Given the description of an element on the screen output the (x, y) to click on. 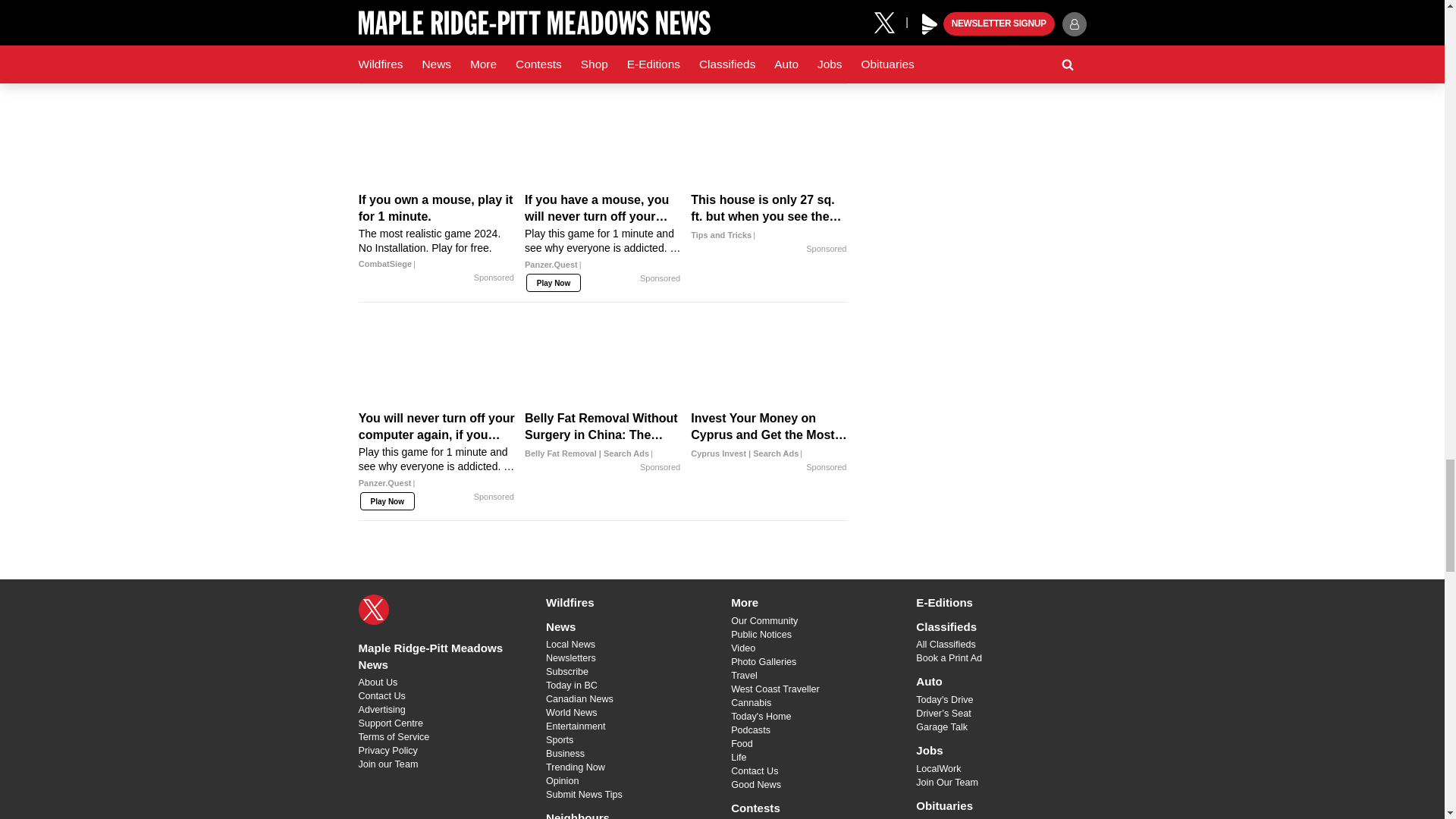
If you own a mouse, play it for 1 minute. (436, 231)
If you own a mouse, play it for 1 minute. (436, 143)
Login (727, 54)
This has been shared 0 times (478, 17)
Login (727, 17)
